Given the description of an element on the screen output the (x, y) to click on. 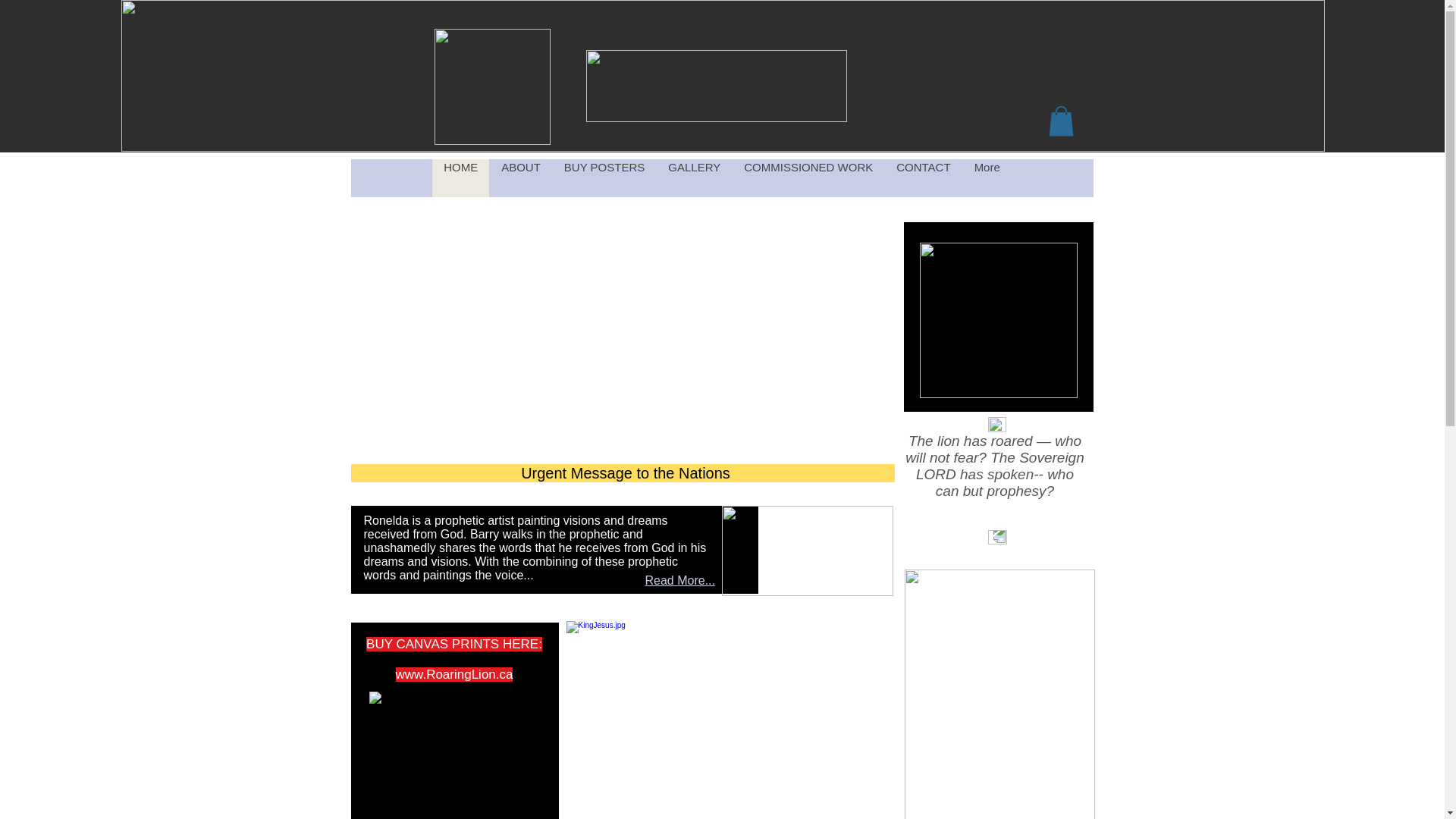
BUY POSTERS (603, 177)
Read More... (679, 580)
www.RoaringLion.ca (454, 674)
CONTACT (921, 177)
ABOUT (520, 177)
COMMISSIONED WORK (807, 177)
BUY CANVAS PRINTS HERE: (453, 644)
HOME (460, 177)
GALLERY (694, 177)
